Given the description of an element on the screen output the (x, y) to click on. 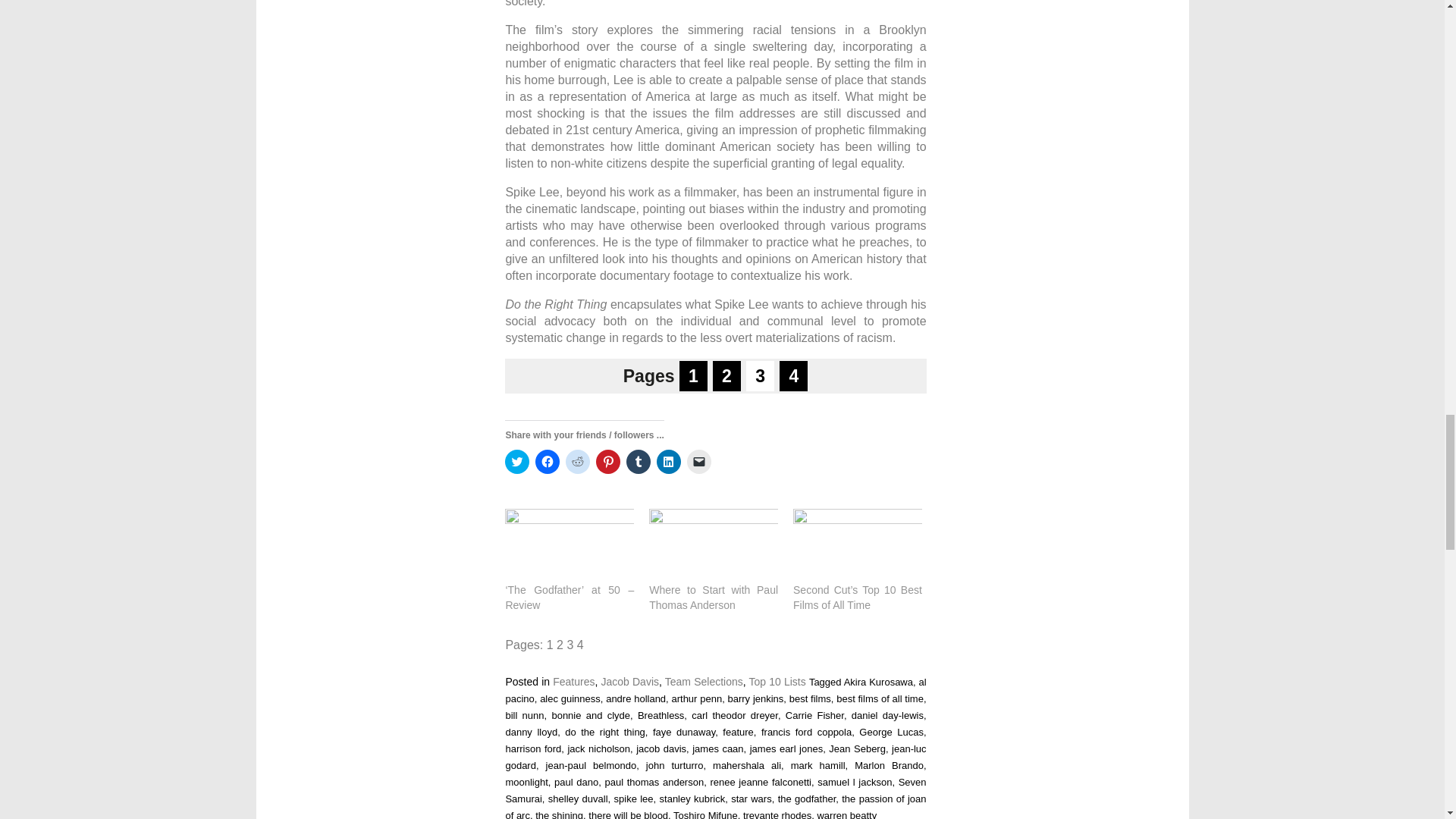
Click to share on LinkedIn (668, 461)
Click to share on Facebook (547, 461)
Click to share on Reddit (577, 461)
Click to share on Pinterest (607, 461)
Click to email a link to a friend (699, 461)
Click to share on Twitter (517, 461)
Click to share on Tumblr (638, 461)
